Given the description of an element on the screen output the (x, y) to click on. 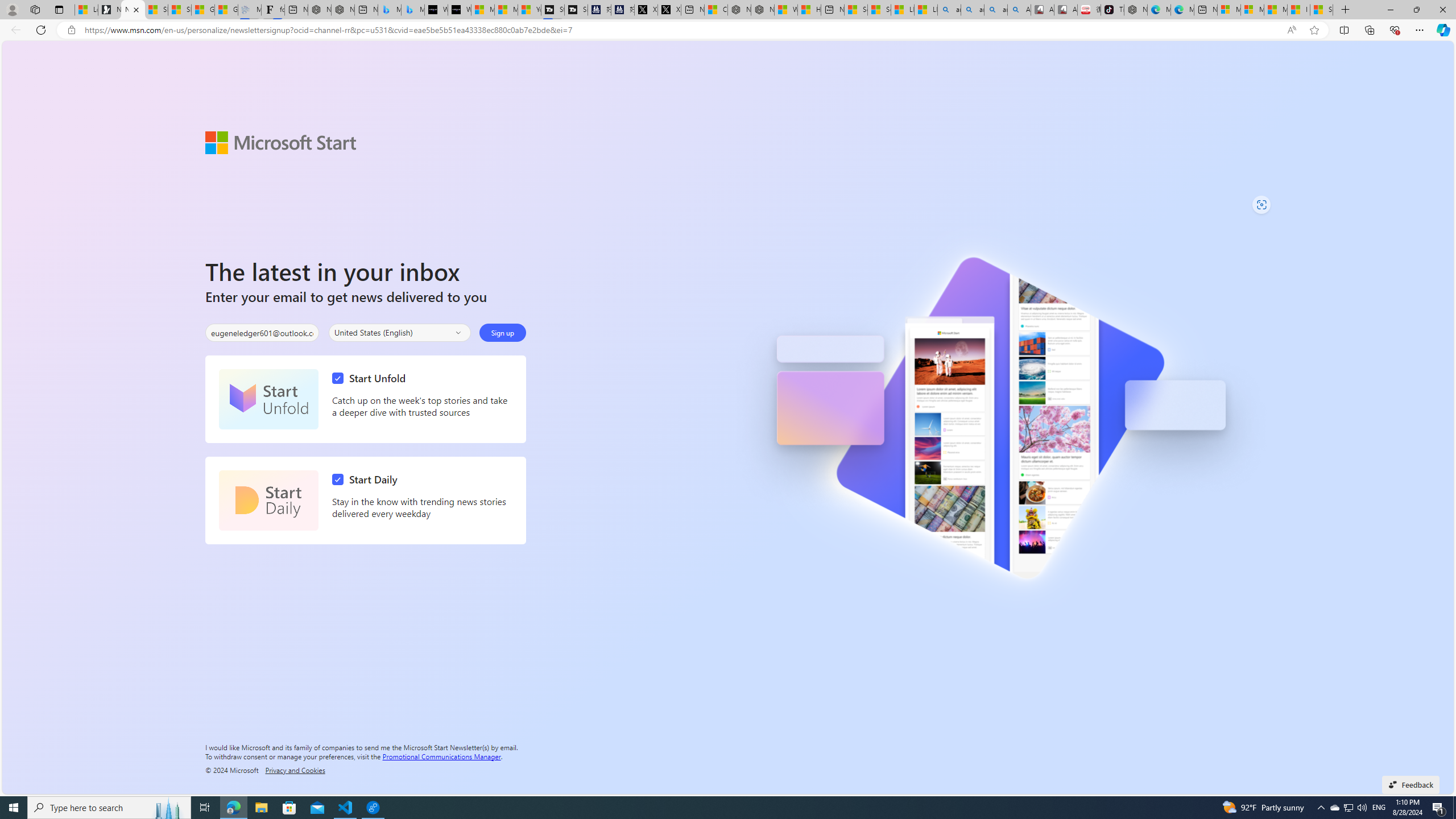
Enter your email (261, 332)
Promotional Communications Manager (440, 755)
Gilma and Hector both pose tropical trouble for Hawaii (226, 9)
TikTok (1112, 9)
Microsoft Start (1275, 9)
amazon - Search Images (995, 9)
Feedback (1410, 784)
Amazon Echo Robot - Search Images (1019, 9)
amazon - Search (972, 9)
Microsoft Bing Travel - Shangri-La Hotel Bangkok (412, 9)
Start Unfold (371, 378)
Address and search bar (680, 29)
